Given the description of an element on the screen output the (x, y) to click on. 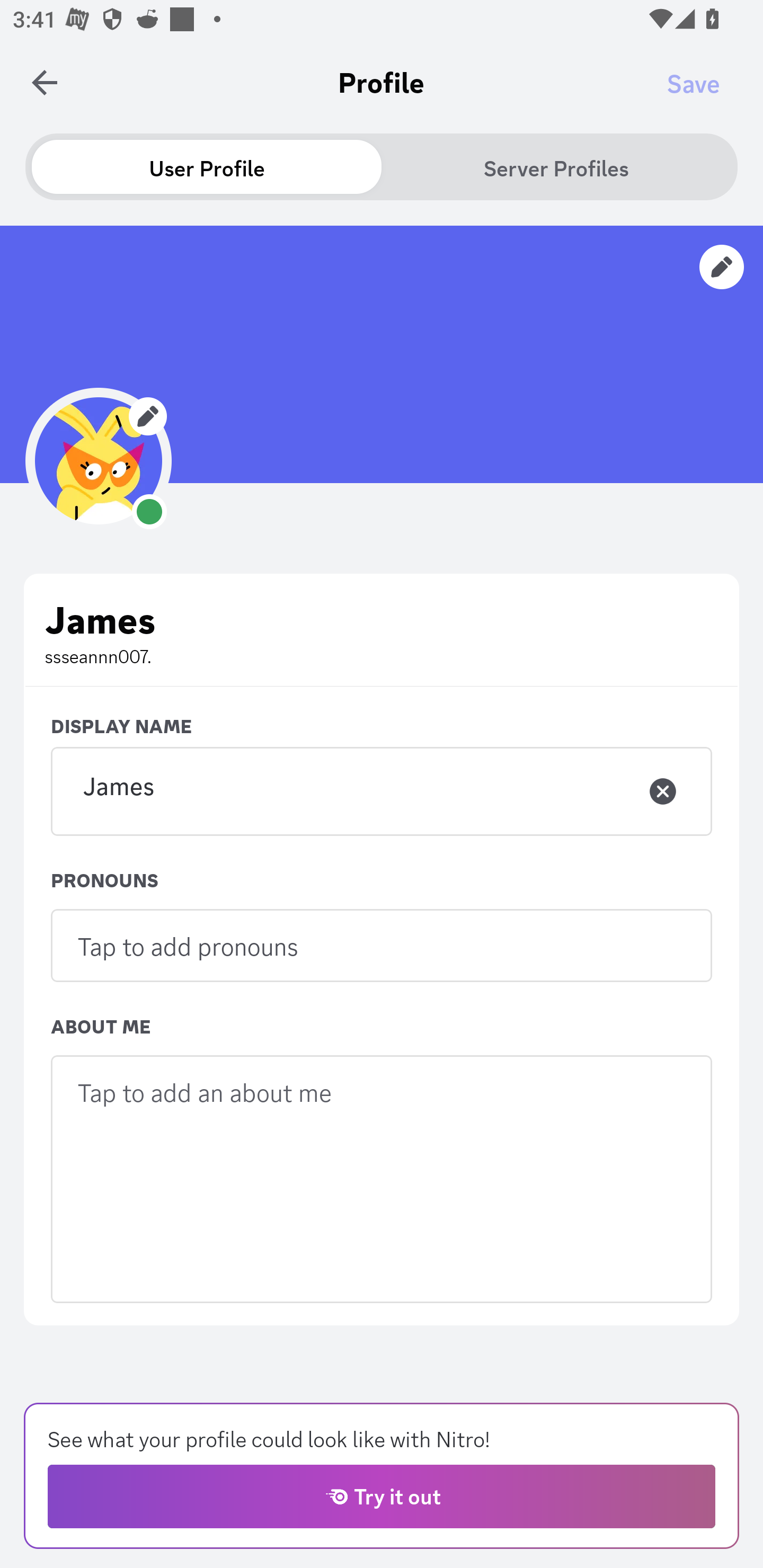
Navigate up (44, 82)
Save, back Save (693, 82)
User Profile (206, 166)
Server Profiles (555, 166)
Change Profile Banner (381, 353)
Change Avatar or Decoration (98, 459)
James,  ssseannn007. James ssseannn007. (381, 630)
James Clear (381, 790)
James (381, 791)
Clear (662, 791)
Edit Pronouns Tap to add pronouns (381, 945)
Edit About Me Tap to add an about me (381, 1178)
Try it out (381, 1496)
